Given the description of an element on the screen output the (x, y) to click on. 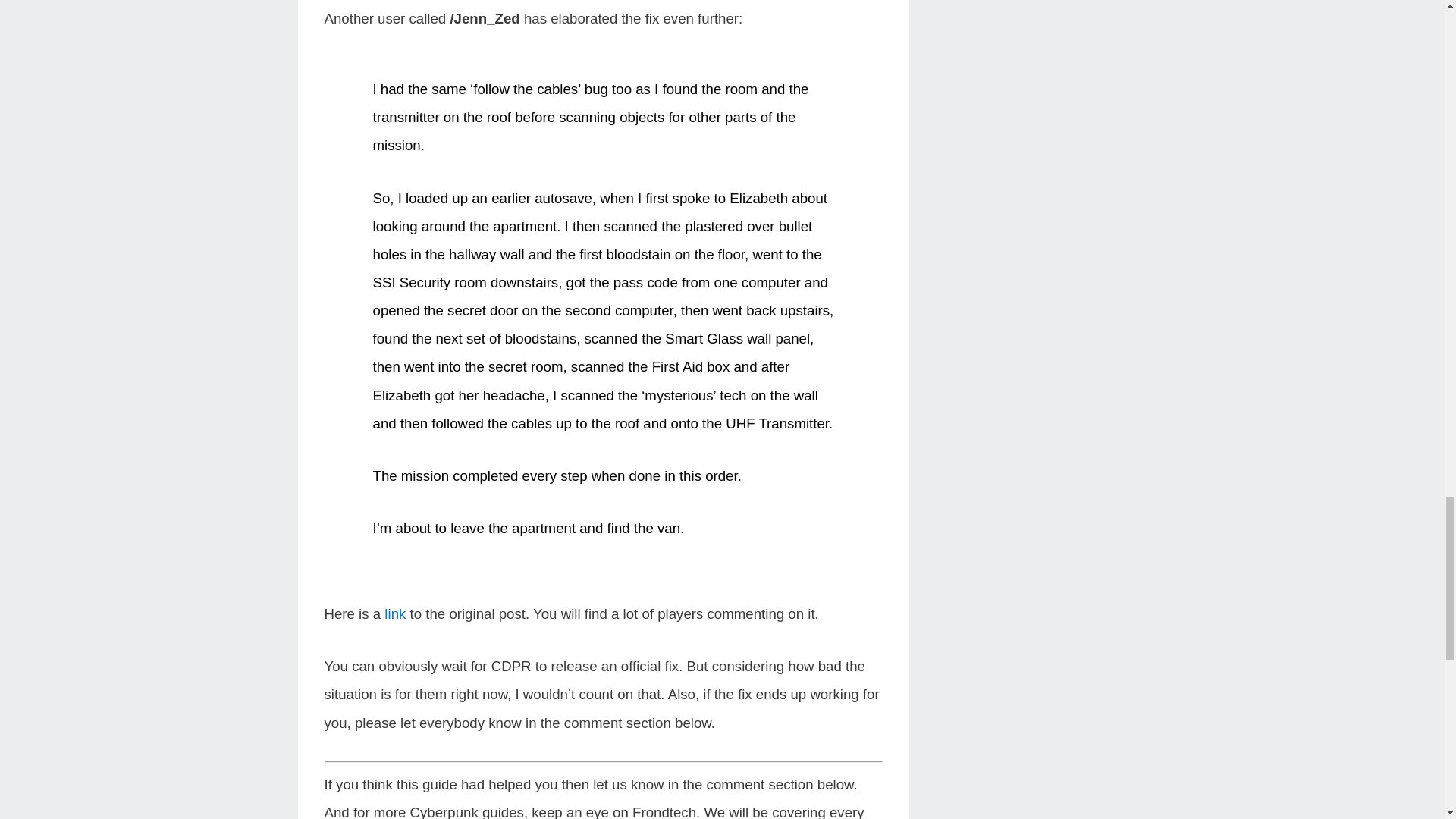
link (395, 613)
